Given the description of an element on the screen output the (x, y) to click on. 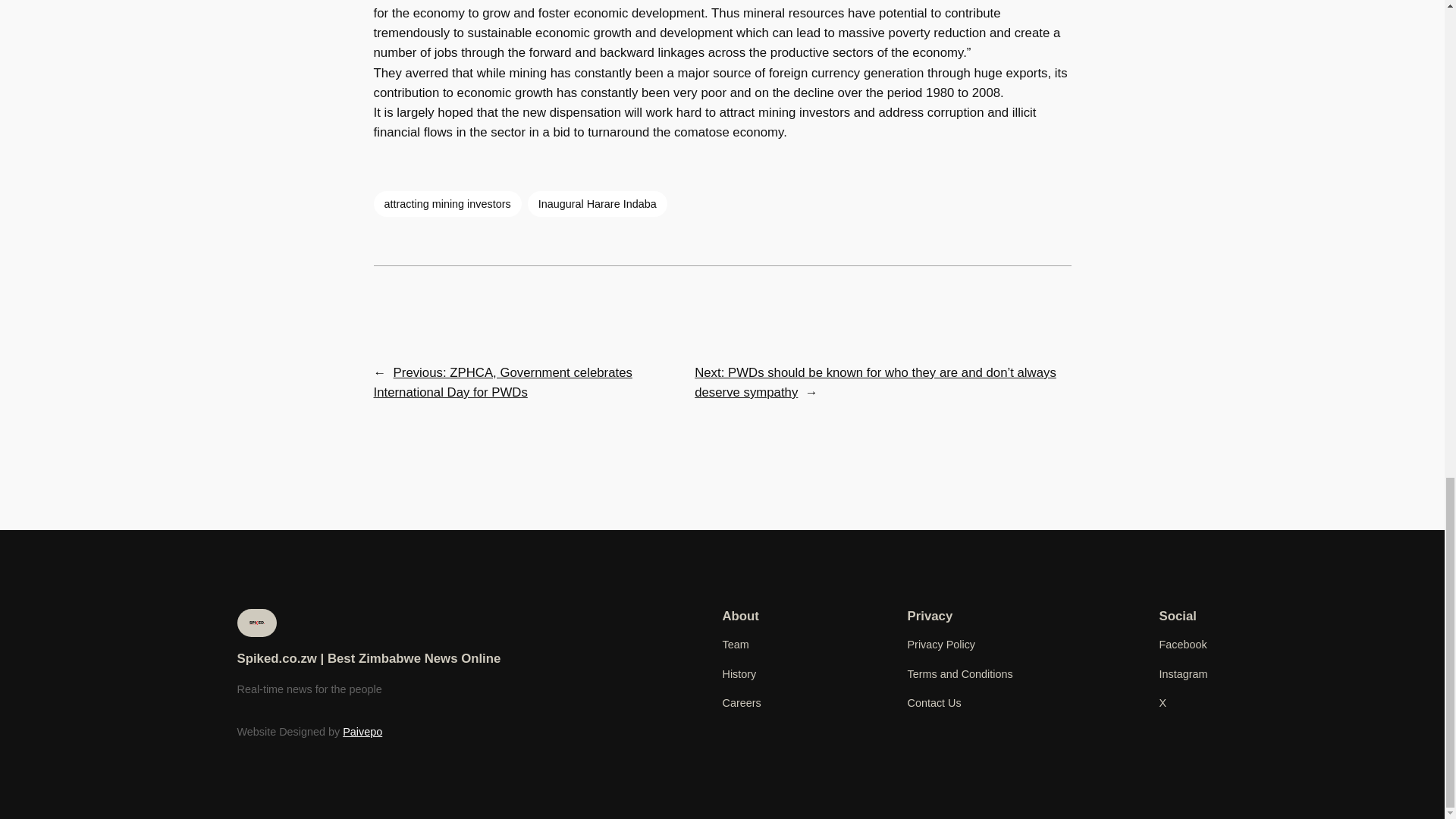
Terms and Conditions (959, 673)
Facebook (1182, 644)
attracting mining investors (446, 203)
Contact Us (933, 702)
Privacy Policy (941, 644)
History (738, 673)
Team (735, 644)
Instagram (1182, 673)
Inaugural Harare Indaba (596, 203)
